Given the description of an element on the screen output the (x, y) to click on. 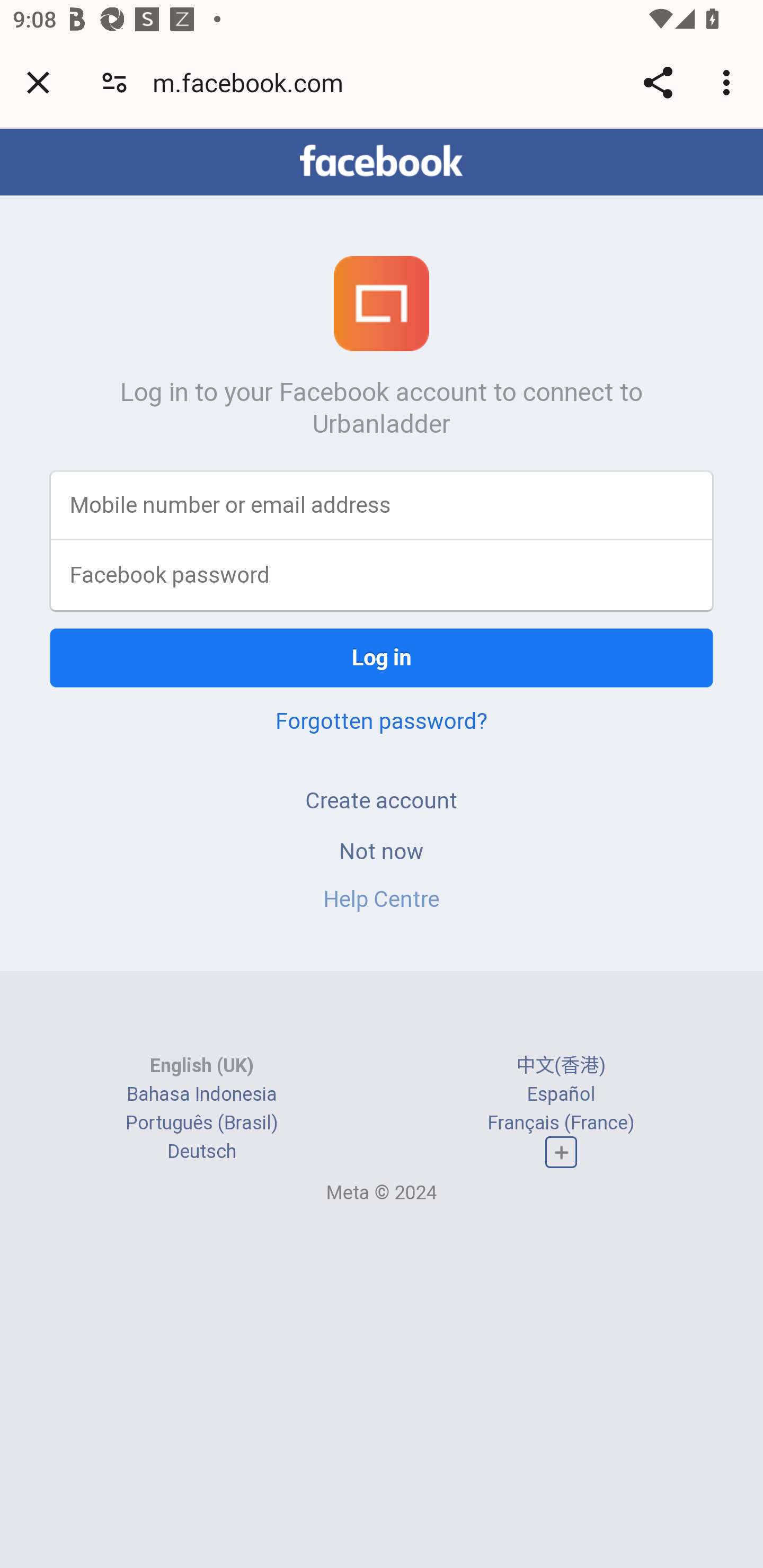
Close tab (38, 82)
Share (657, 82)
Customize and control Google Chrome (729, 82)
Connection is secure (114, 81)
m.facebook.com (254, 81)
facebook (381, 160)
Log in (381, 657)
Forgotten password? (381, 720)
Create account (381, 800)
Not now (381, 850)
Help Centre (381, 898)
中文(香港) (561, 1065)
Bahasa Indonesia (201, 1093)
Español (560, 1093)
Português (Brasil) (201, 1122)
Français (France) (560, 1122)
Complete list of languages (560, 1152)
Deutsch (201, 1151)
